Given the description of an element on the screen output the (x, y) to click on. 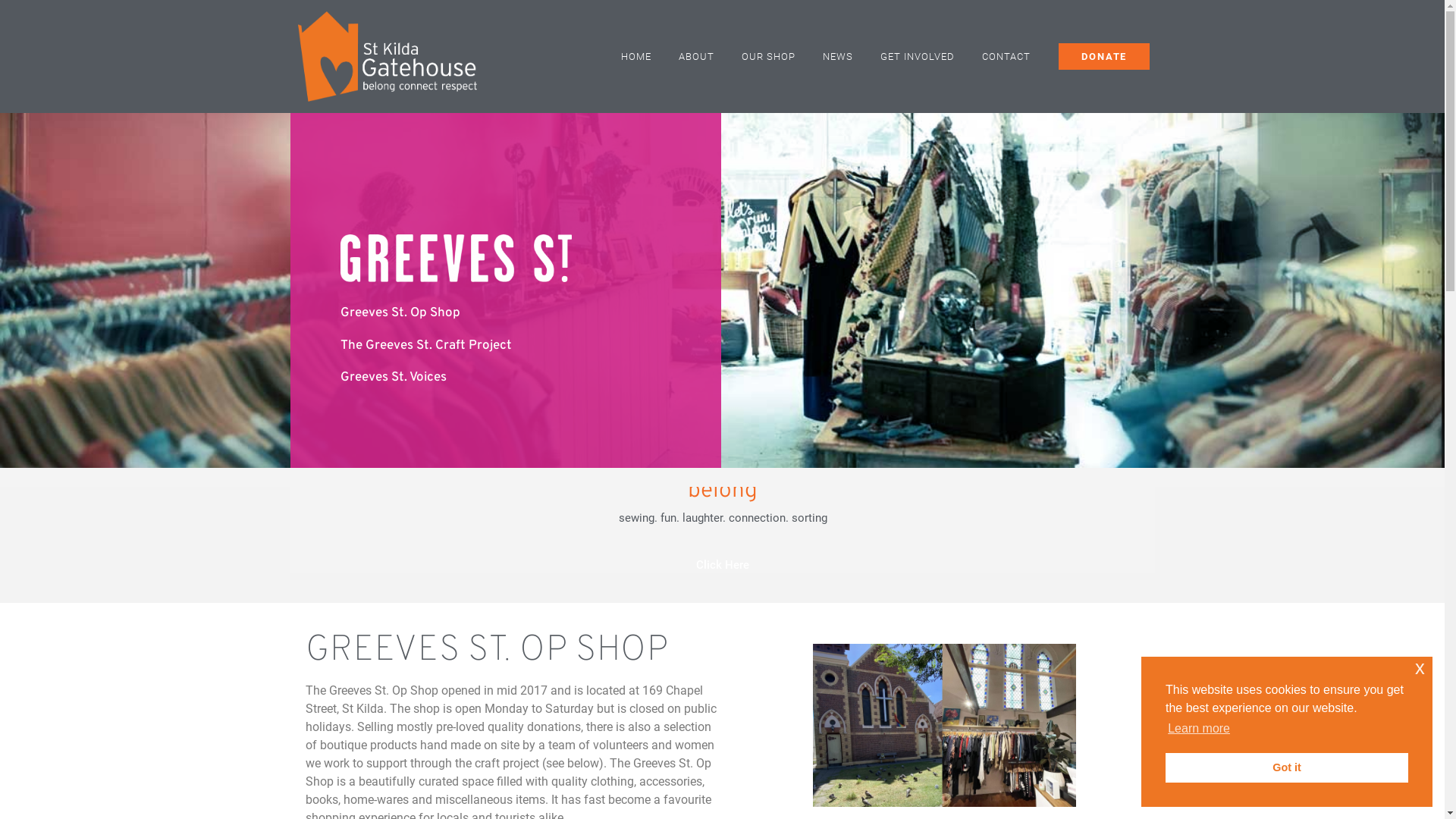
Got it Element type: text (1286, 767)
Greeves St. Voices Element type: text (505, 377)
GET INVOLVED Element type: text (917, 56)
ABOUT Element type: text (696, 56)
The Greeves St. Craft Project Element type: text (505, 345)
OUR SHOP Element type: text (768, 56)
Greeves St. Op Shop Element type: text (505, 313)
NEWS Element type: text (837, 56)
CONTACT Element type: text (1006, 56)
HOME Element type: text (636, 56)
DONATE Element type: text (1103, 56)
Learn more Element type: text (1198, 728)
